Given the description of an element on the screen output the (x, y) to click on. 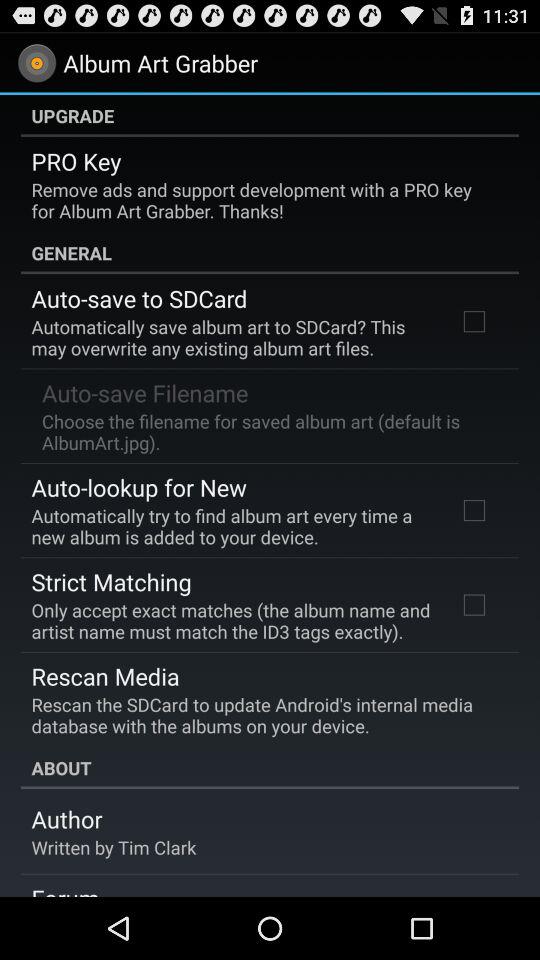
swipe until choose the filename (268, 431)
